Given the description of an element on the screen output the (x, y) to click on. 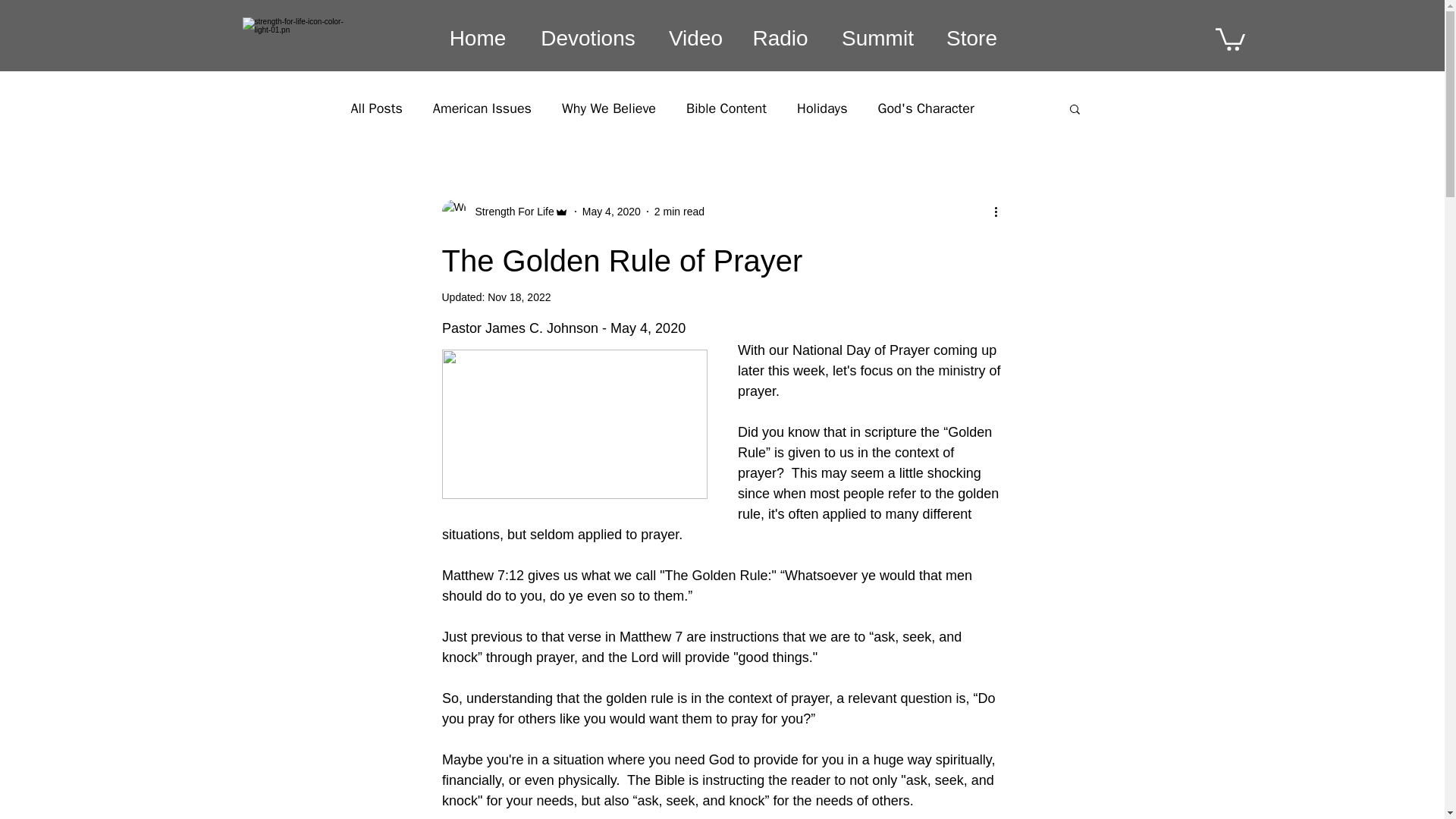
Summit (877, 38)
Video (695, 38)
American Issues (481, 108)
Holidays (821, 108)
Why We Believe (609, 108)
Strength For Life (509, 211)
May 4, 2020 (611, 210)
2 min read (678, 210)
Bible Content (726, 108)
Store (971, 38)
